Given the description of an element on the screen output the (x, y) to click on. 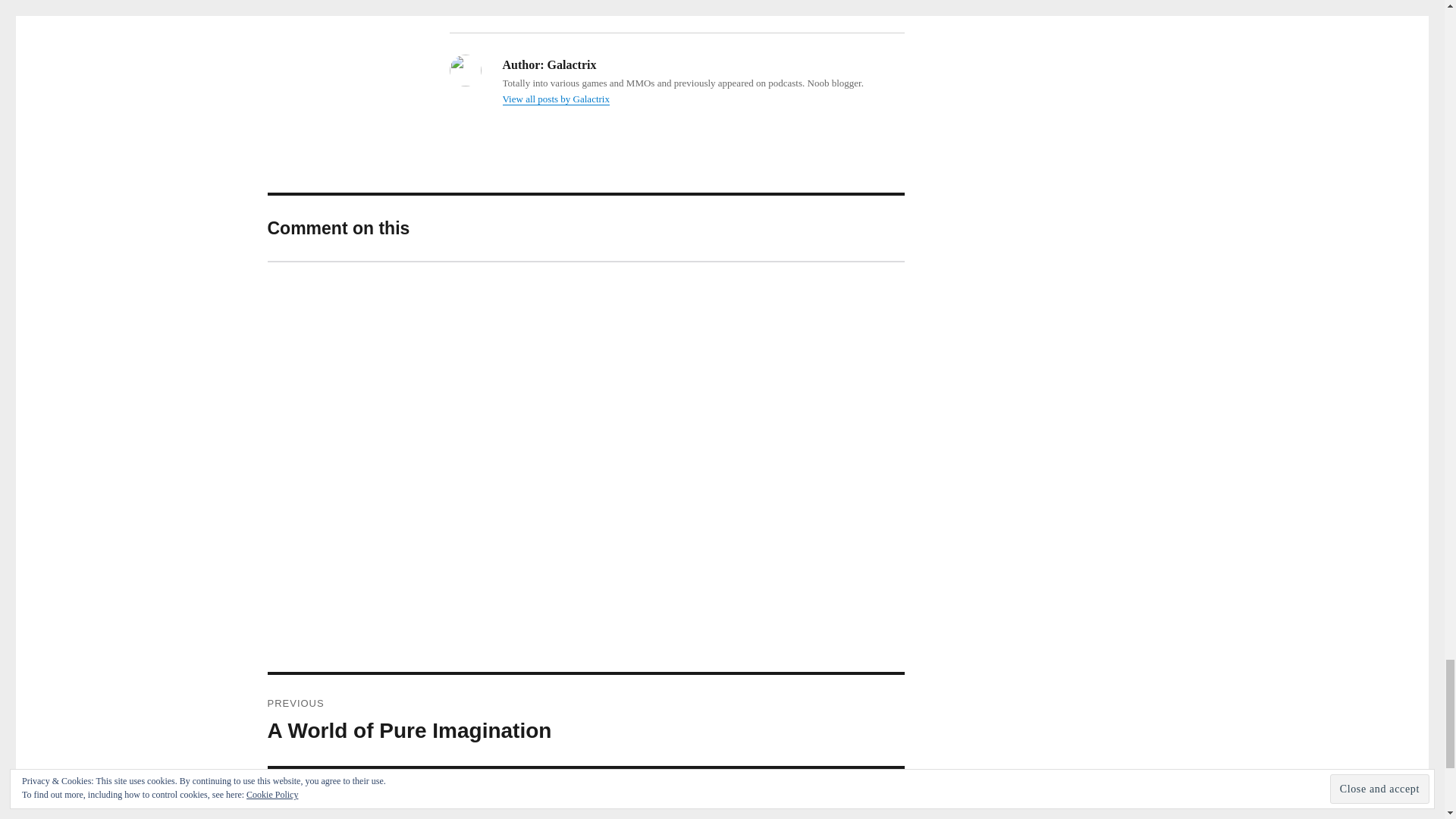
View all posts by Galactrix (585, 794)
Comment Form (555, 98)
